Given the description of an element on the screen output the (x, y) to click on. 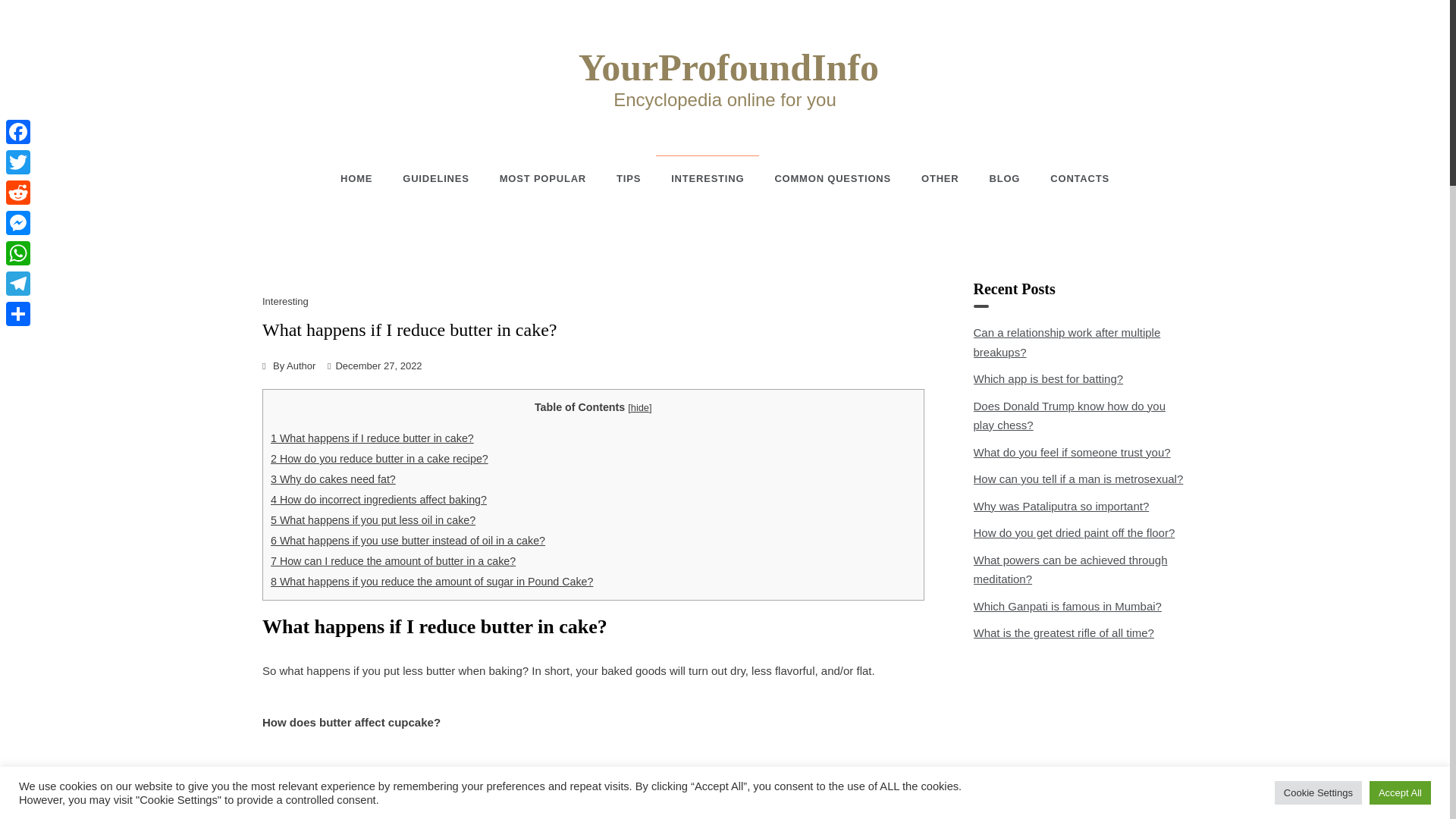
CONTACTS (1072, 178)
Twitter (17, 162)
OTHER (939, 178)
HOME (363, 178)
GUIDELINES (435, 178)
2 How do you reduce butter in a cake recipe? (378, 458)
TIPS (628, 178)
4 How do incorrect ingredients affect baking? (378, 499)
Messenger (17, 223)
Reddit (17, 192)
INTERESTING (707, 178)
5 What happens if you put less oil in cake? (373, 520)
Interesting (287, 301)
hide (639, 407)
